Given the description of an element on the screen output the (x, y) to click on. 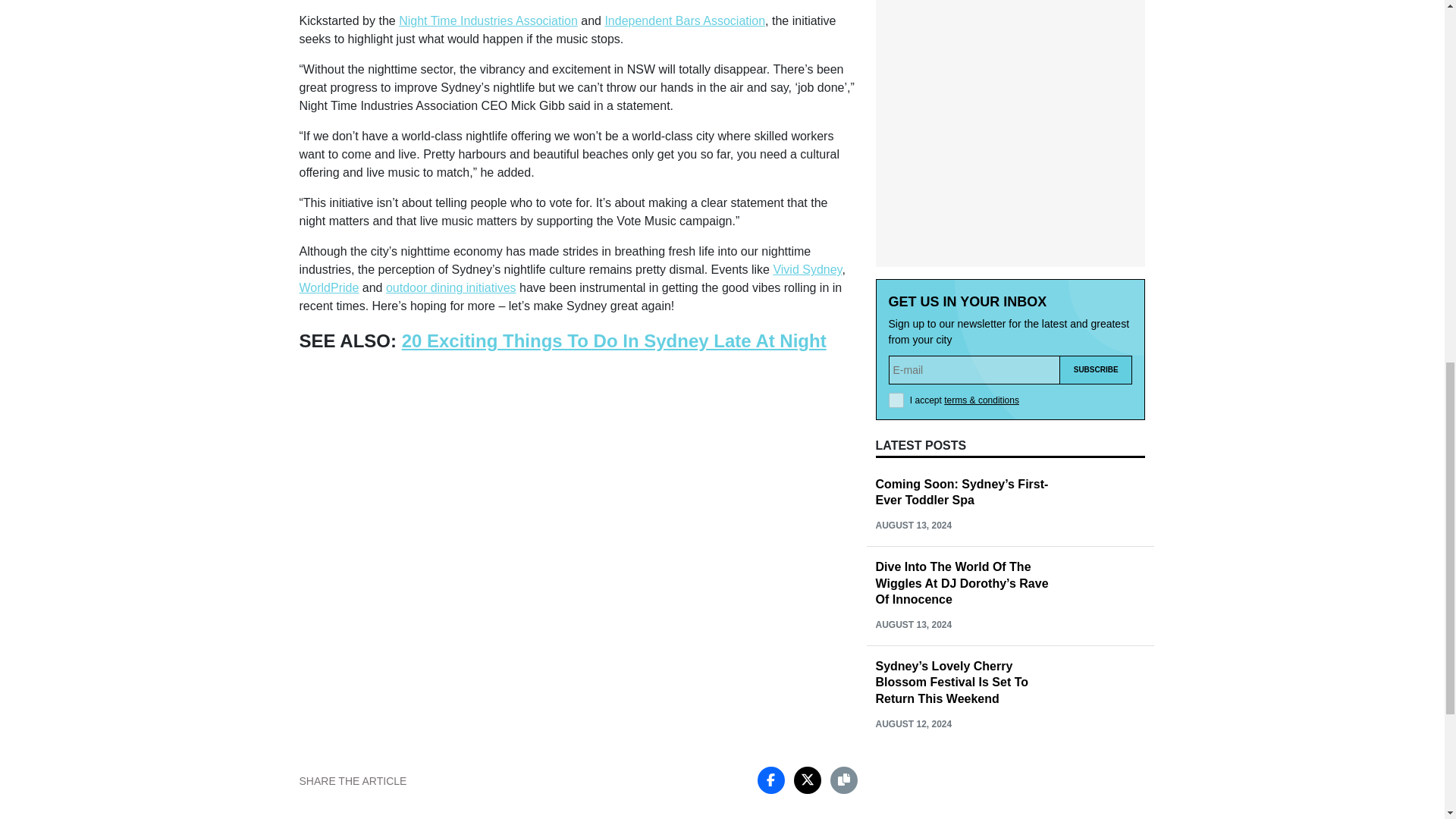
Independent Bars Association (684, 20)
Night Time Industries Association (488, 20)
Subscribe (1095, 370)
AUGUST 13, 2024 (913, 525)
1 (896, 400)
WorldPride (328, 287)
Subscribe (1095, 370)
AUGUST 12, 2024 (913, 724)
Vivid Sydney (807, 269)
AUGUST 13, 2024 (913, 624)
